Given the description of an element on the screen output the (x, y) to click on. 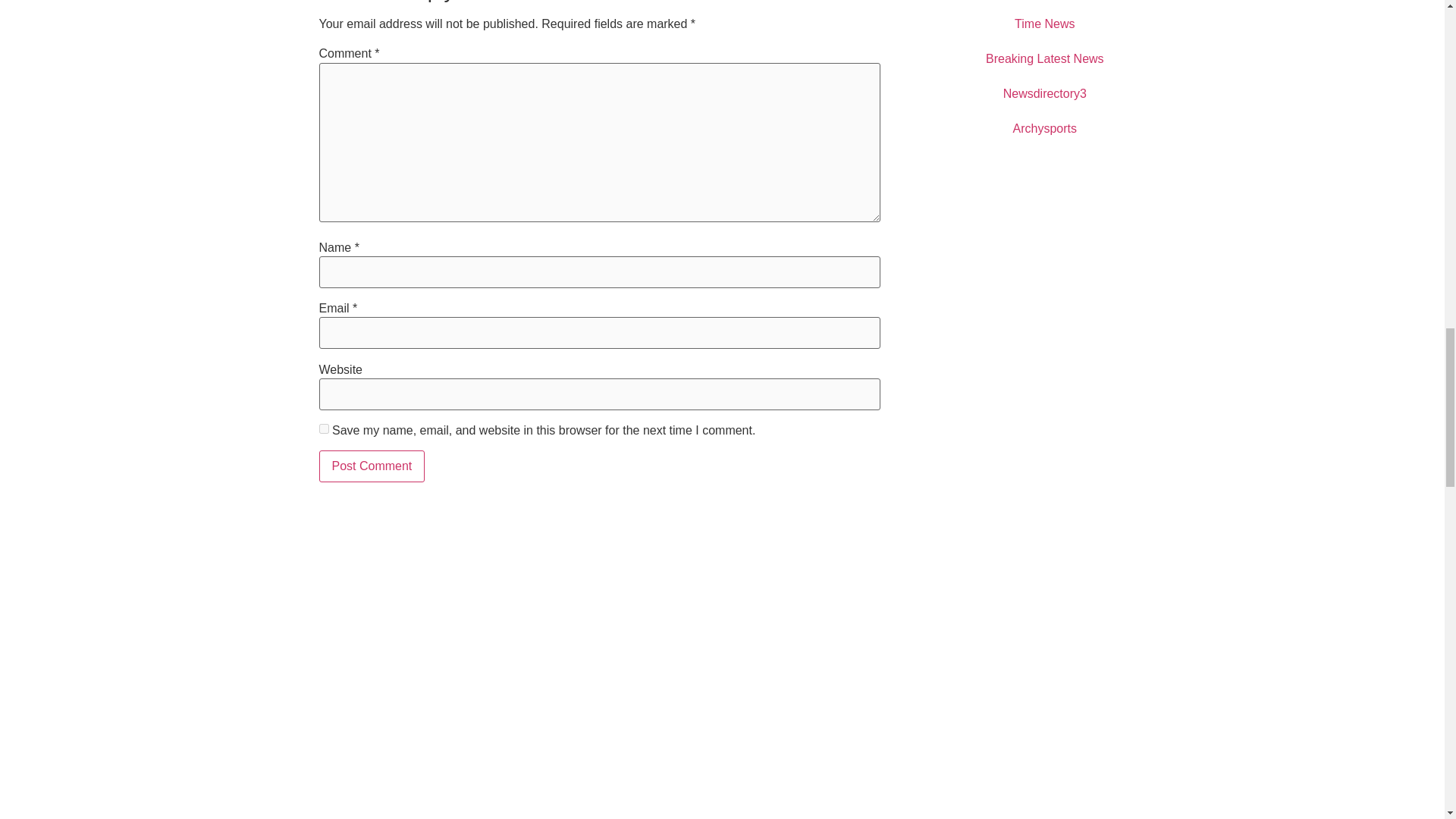
yes (323, 429)
Post Comment (371, 466)
